Given the description of an element on the screen output the (x, y) to click on. 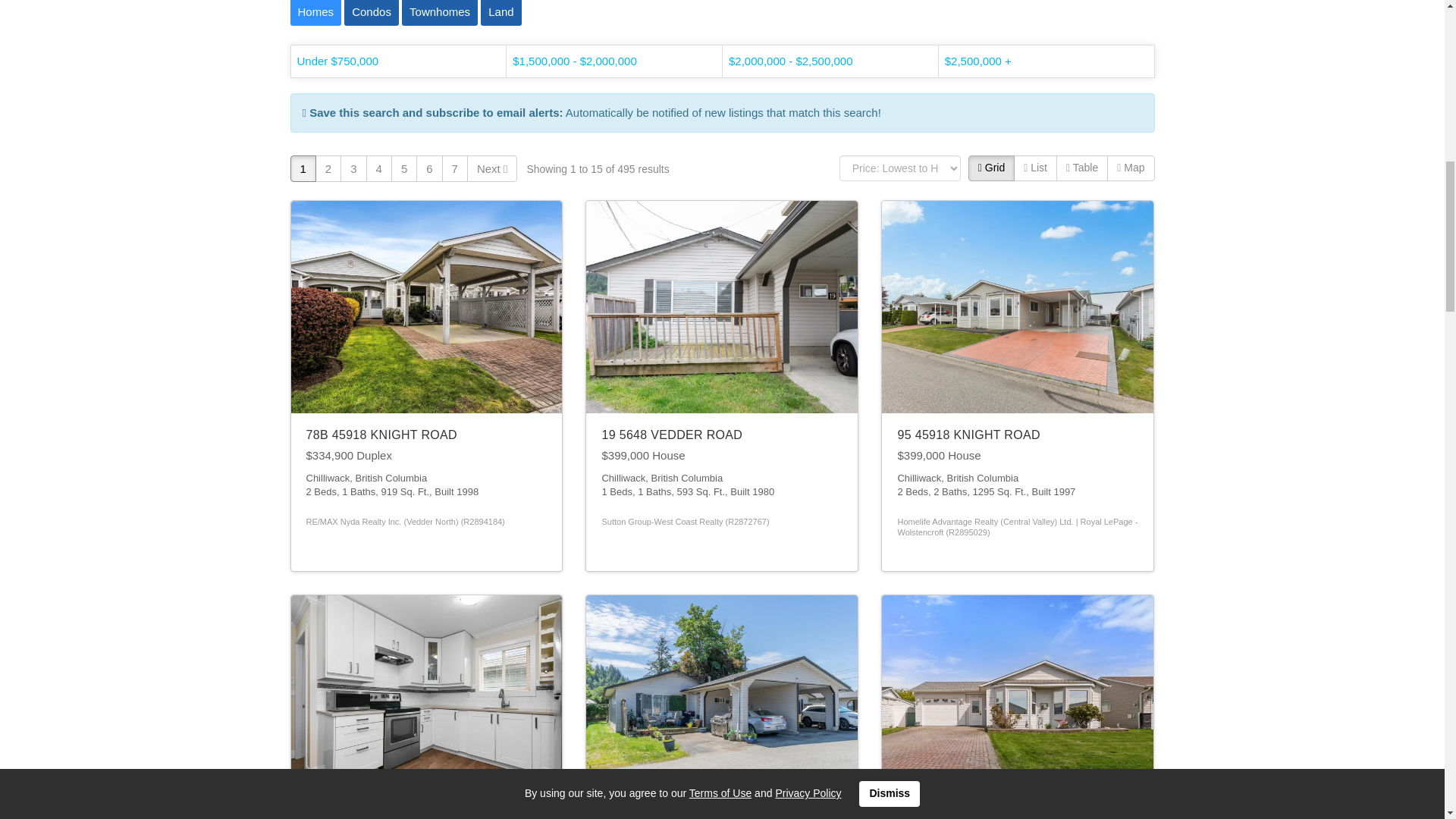
Land (500, 12)
Townhomes (439, 12)
Condos (370, 12)
Condos (370, 11)
Townhomes (439, 11)
Homes (314, 11)
Land (500, 11)
Homes (314, 12)
